Given the description of an element on the screen output the (x, y) to click on. 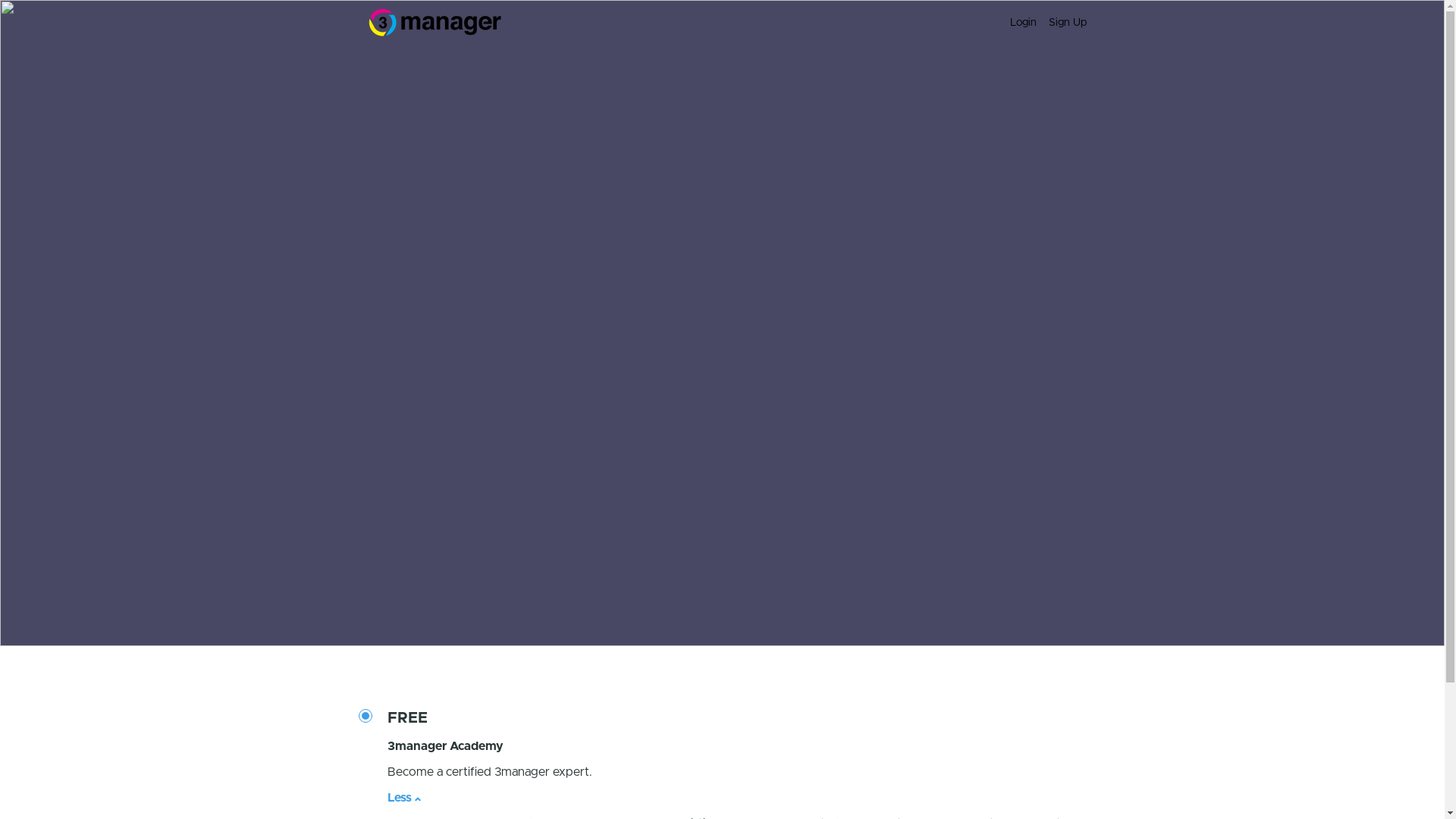
Sign Up Element type: text (1066, 22)
Less Element type: text (400, 797)
Login Element type: text (1023, 22)
